Given the description of an element on the screen output the (x, y) to click on. 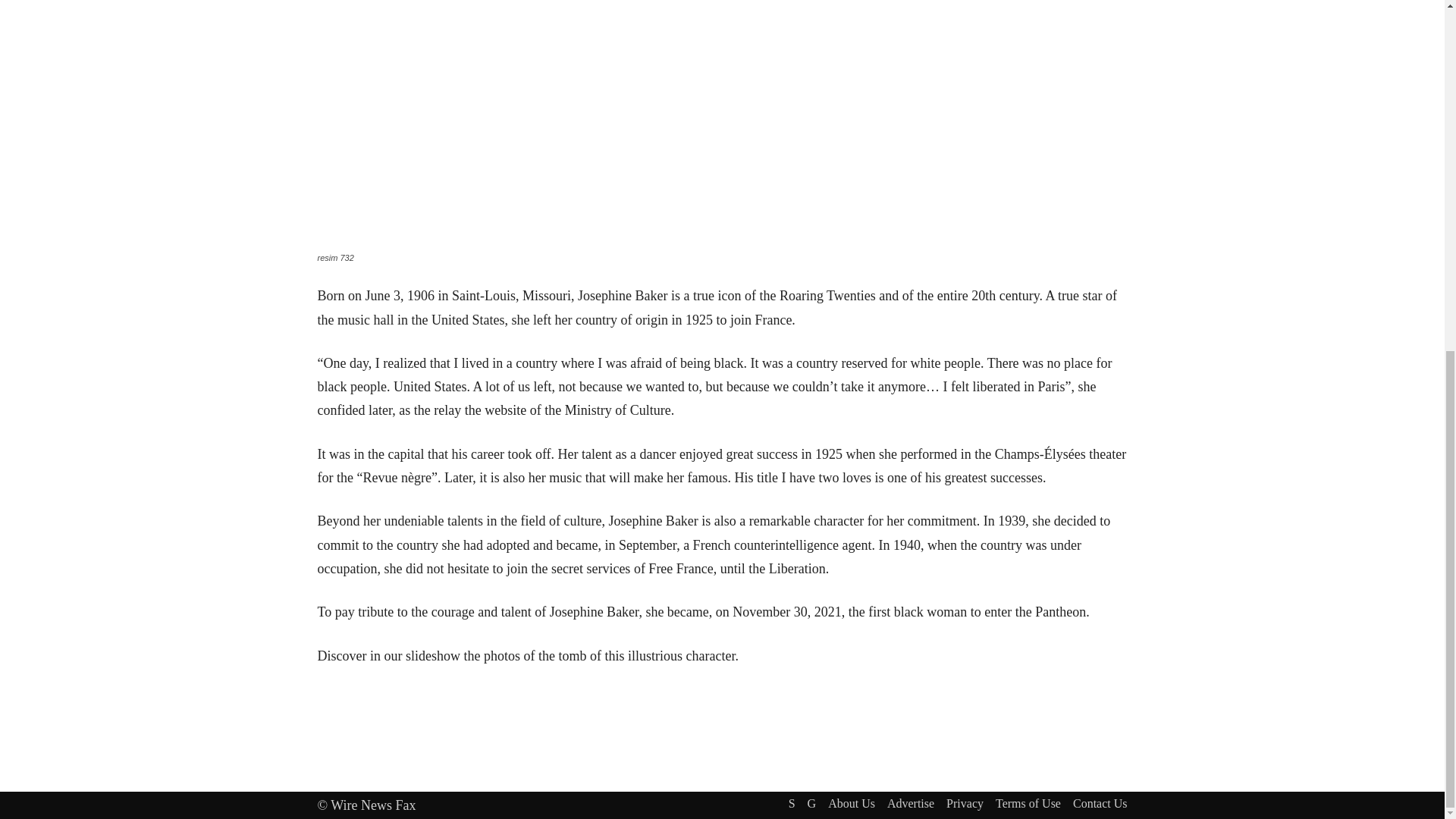
Contact Us (1099, 803)
S (791, 803)
Terms of Use (1028, 803)
About Us (851, 803)
Advertise (910, 803)
Privacy (965, 803)
G (812, 803)
